Given the description of an element on the screen output the (x, y) to click on. 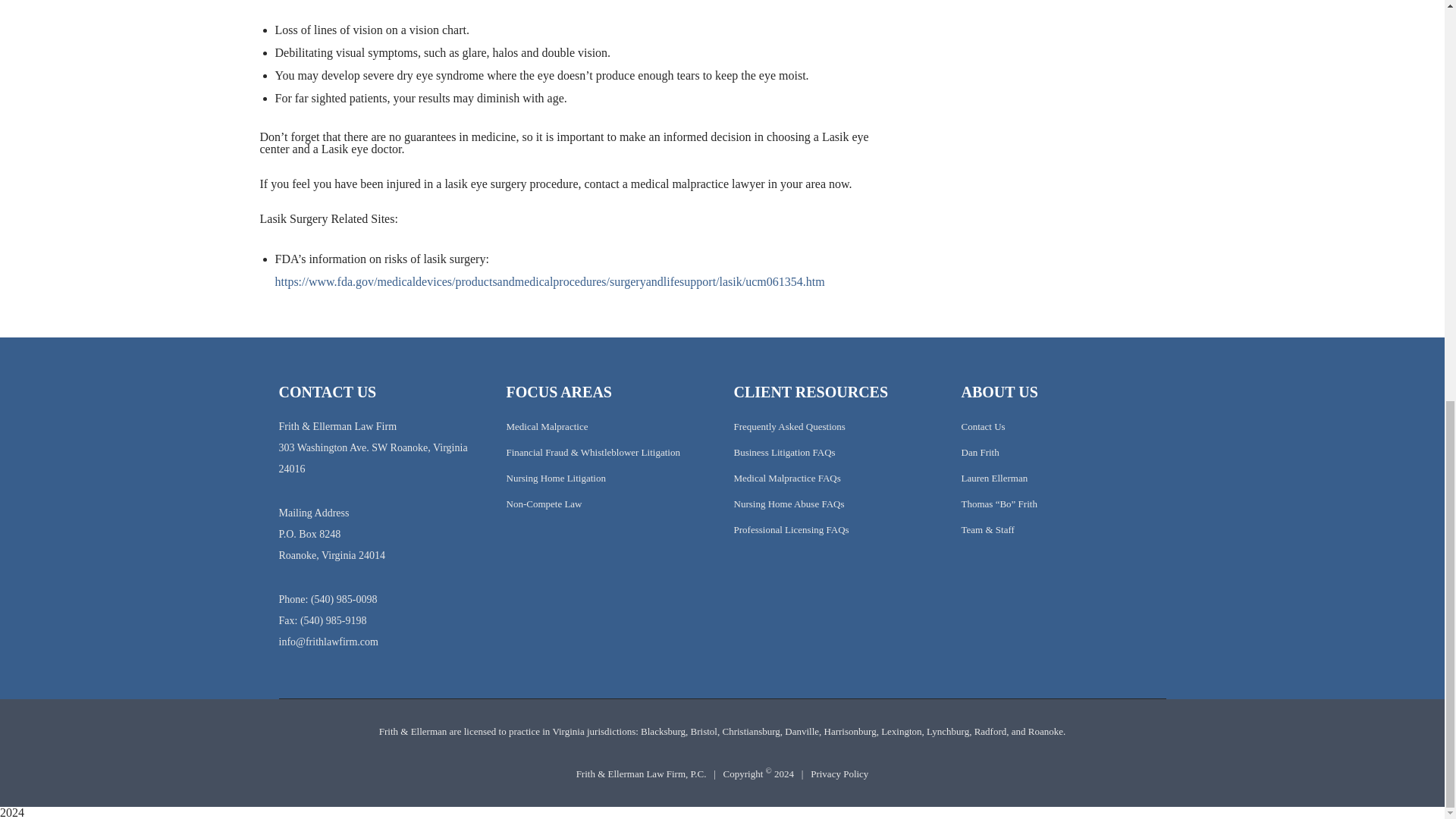
Nursing Home Litigation (555, 478)
Non-Compete Law (544, 503)
Nursing Home Abuse FAQs (788, 503)
Frequently Asked Questions (789, 426)
Dan Frith (979, 451)
Medical Malpractice (547, 426)
Business Litigation FAQs (784, 451)
Medical Malpractice FAQs (787, 478)
Professional Licensing FAQs (790, 529)
Lauren Ellerman (993, 478)
